Given the description of an element on the screen output the (x, y) to click on. 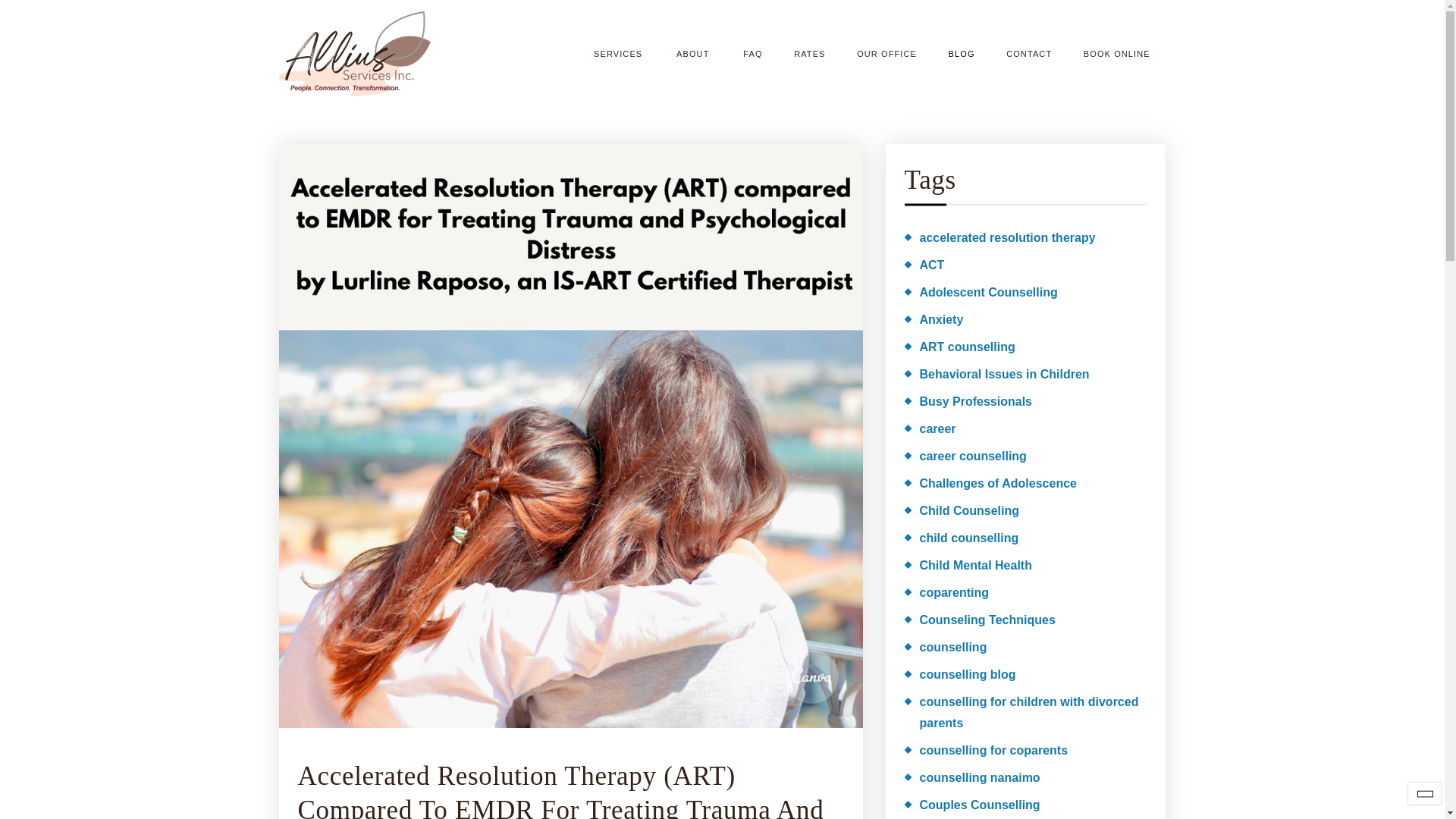
FAQ (753, 53)
accelerated resolution therapy (999, 237)
CONTACT (1028, 53)
RATES (809, 53)
OUR OFFICE (886, 53)
ABOUT (693, 53)
BLOG (962, 53)
BOOK ONLINE (1116, 53)
SERVICES (619, 53)
